Given the description of an element on the screen output the (x, y) to click on. 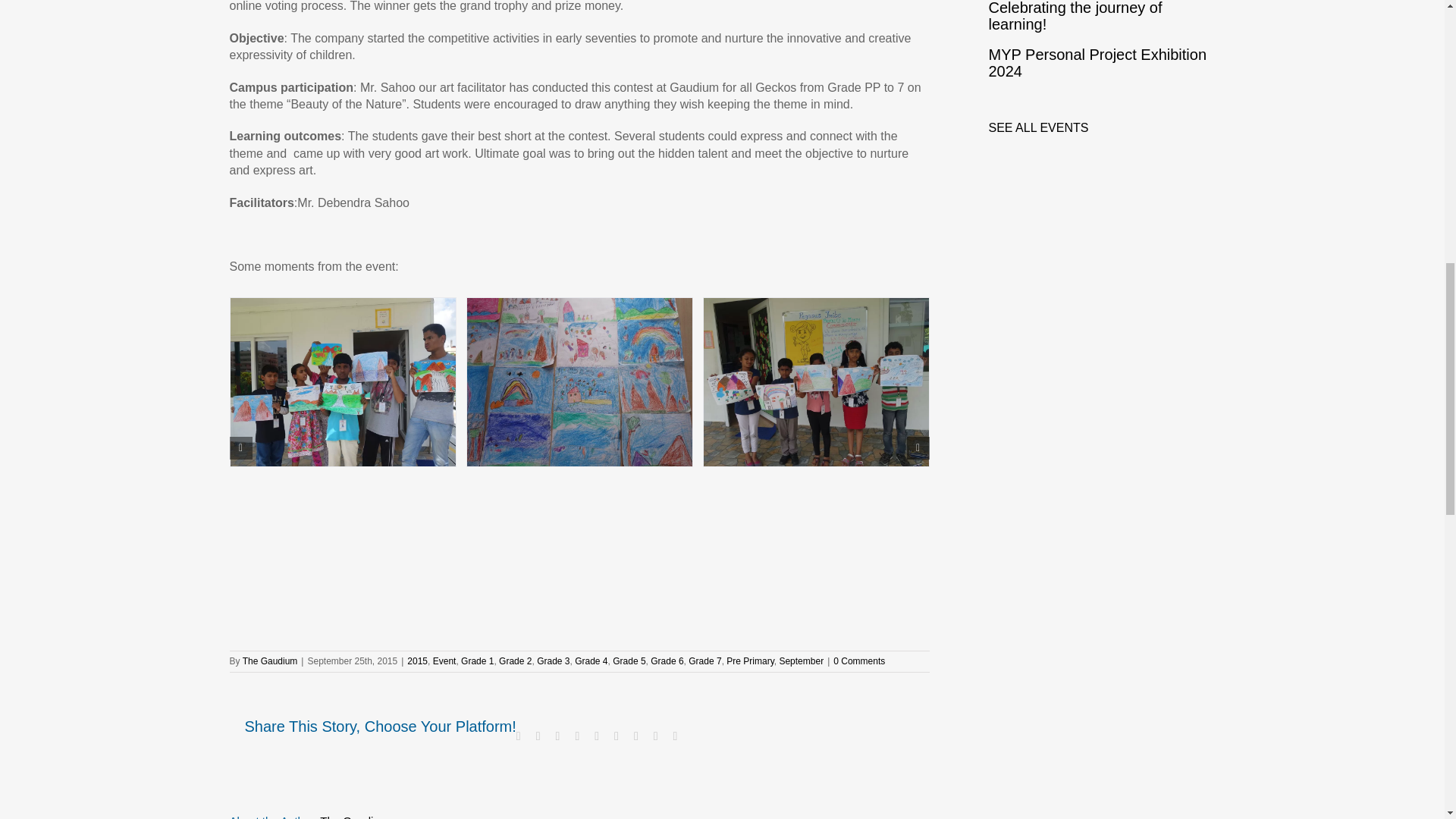
Posts by The Gaudium (354, 816)
Posts by The Gaudium (270, 661)
